Given the description of an element on the screen output the (x, y) to click on. 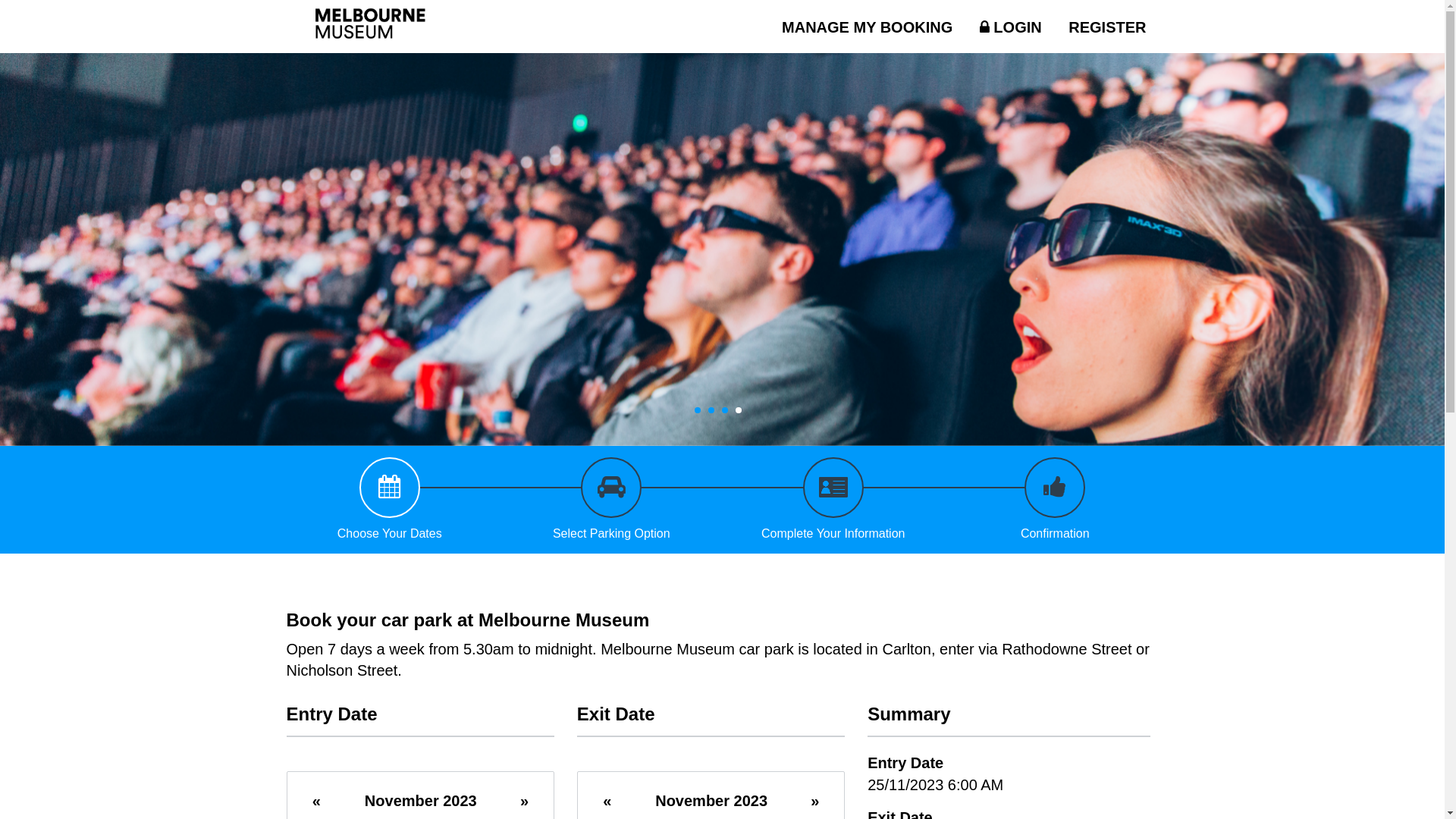
MANAGE MY BOOKING Element type: text (866, 26)
Choose Your Dates Element type: text (389, 499)
MELBOURNE MUSEUM Element type: text (353, 26)
REGISTER Element type: text (1107, 26)
LOGIN Element type: text (1010, 26)
